Given the description of an element on the screen output the (x, y) to click on. 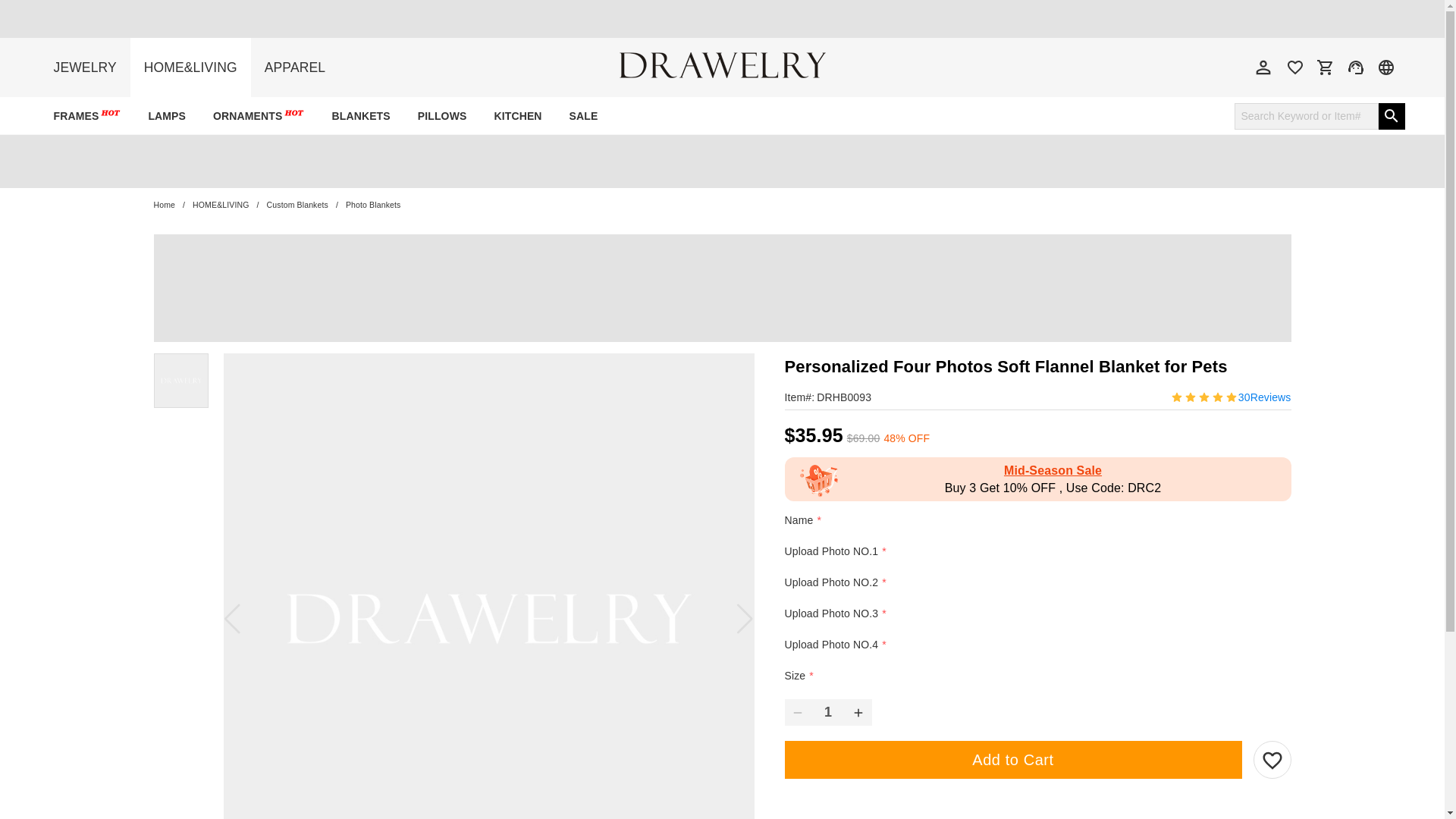
KITCHEN (517, 116)
APPAREL (294, 67)
JEWELRY (84, 67)
Add to Cart (1012, 759)
SALE (583, 116)
Mid-Season Sale (1053, 470)
Custom Blankets (297, 205)
Home (163, 205)
FRAMES (86, 116)
Photo Blankets (373, 205)
